Given the description of an element on the screen output the (x, y) to click on. 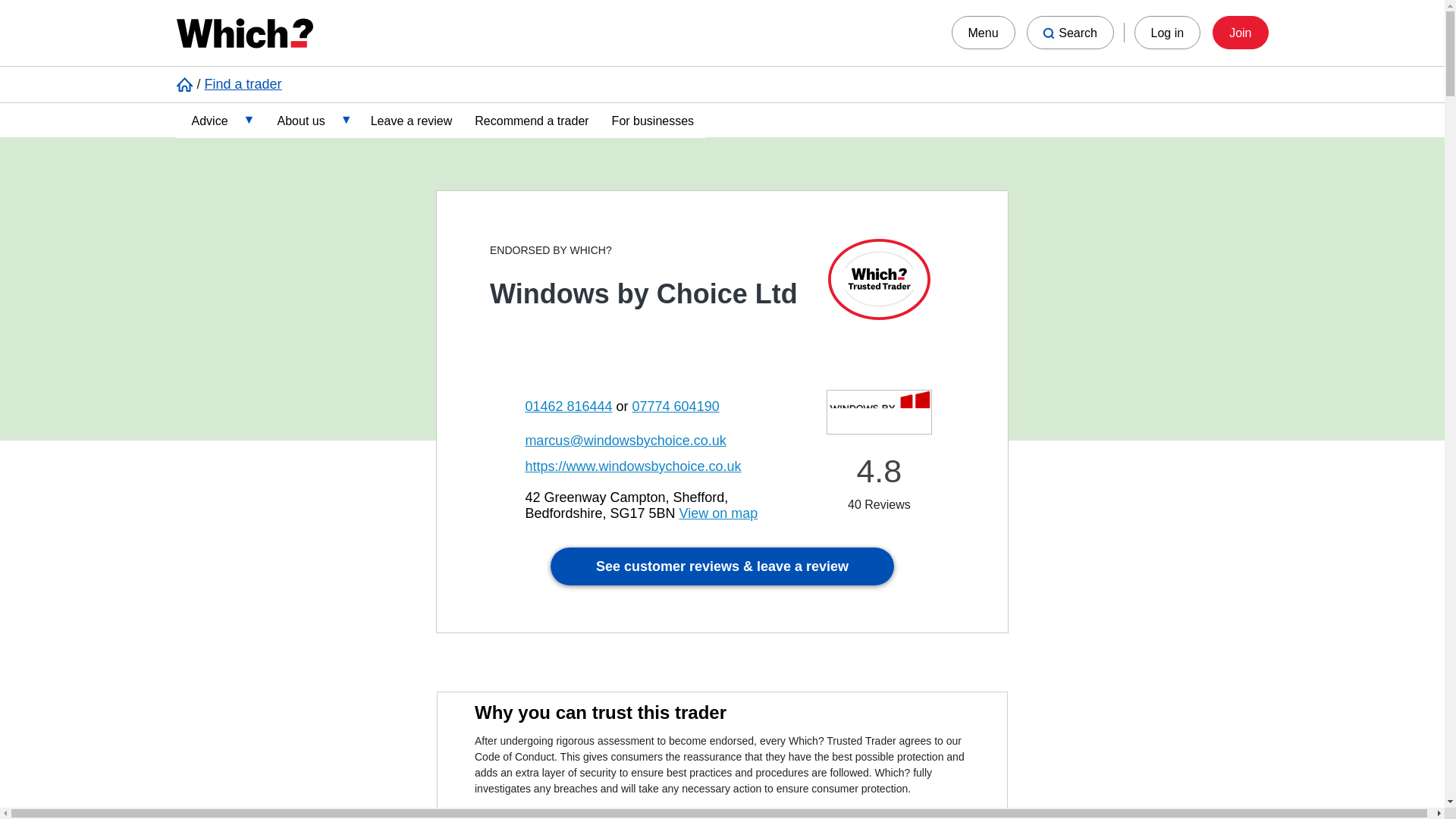
General information (284, 279)
Search (1069, 32)
Cost guide (284, 159)
Log in (1167, 32)
Design (284, 199)
Hiring a trader (284, 319)
Menu (983, 32)
Gardening (284, 239)
Advice (219, 119)
Join (1240, 32)
